Given the description of an element on the screen output the (x, y) to click on. 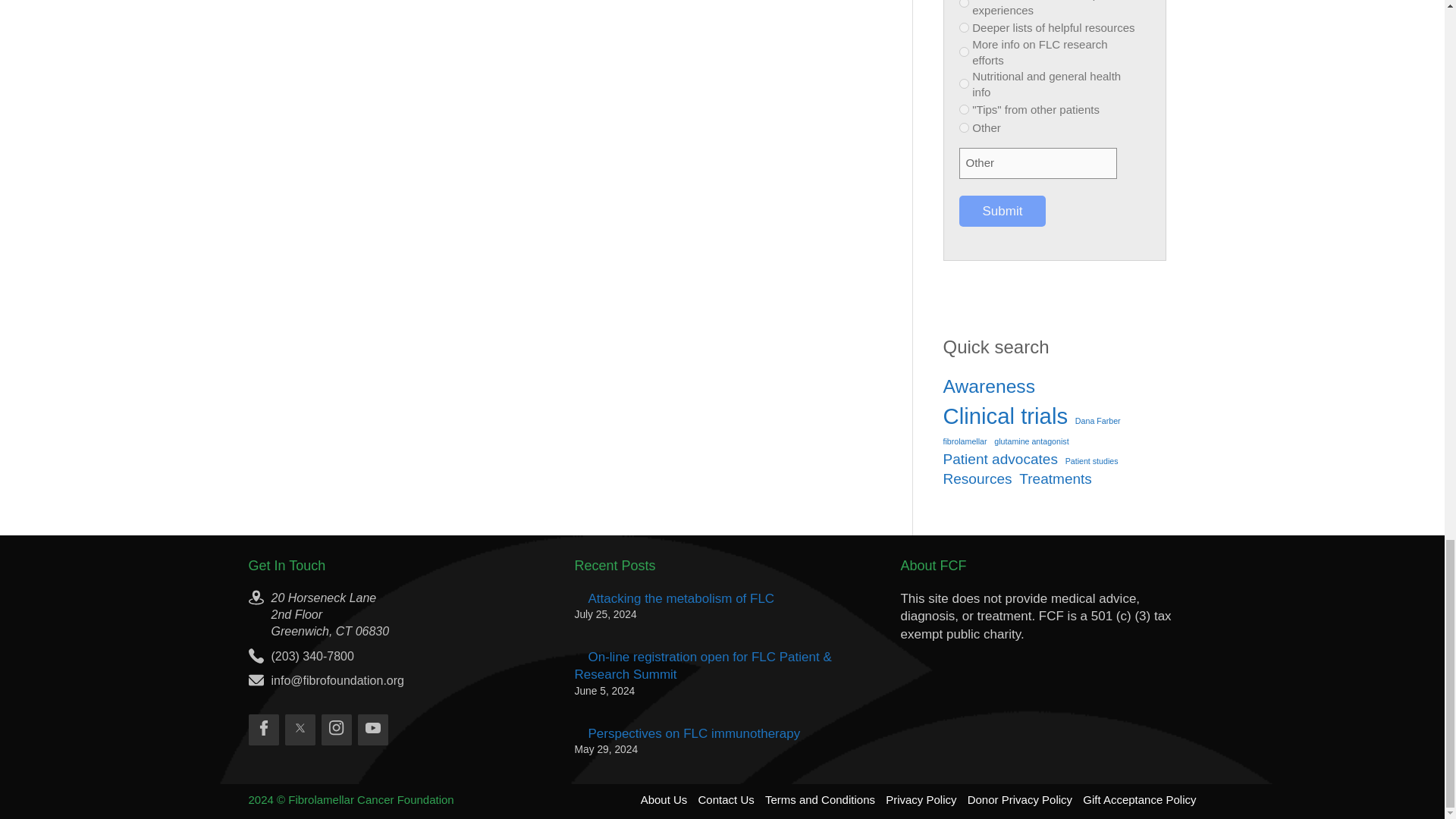
Submit (1001, 211)
Other (1037, 163)
gpoll1d590febd (963, 109)
gpoll14070bc96 (963, 83)
gpoll17d88107f (963, 51)
gpoll14880cc18 (963, 27)
gpoll138f860e0 (963, 3)
